Given the description of an element on the screen output the (x, y) to click on. 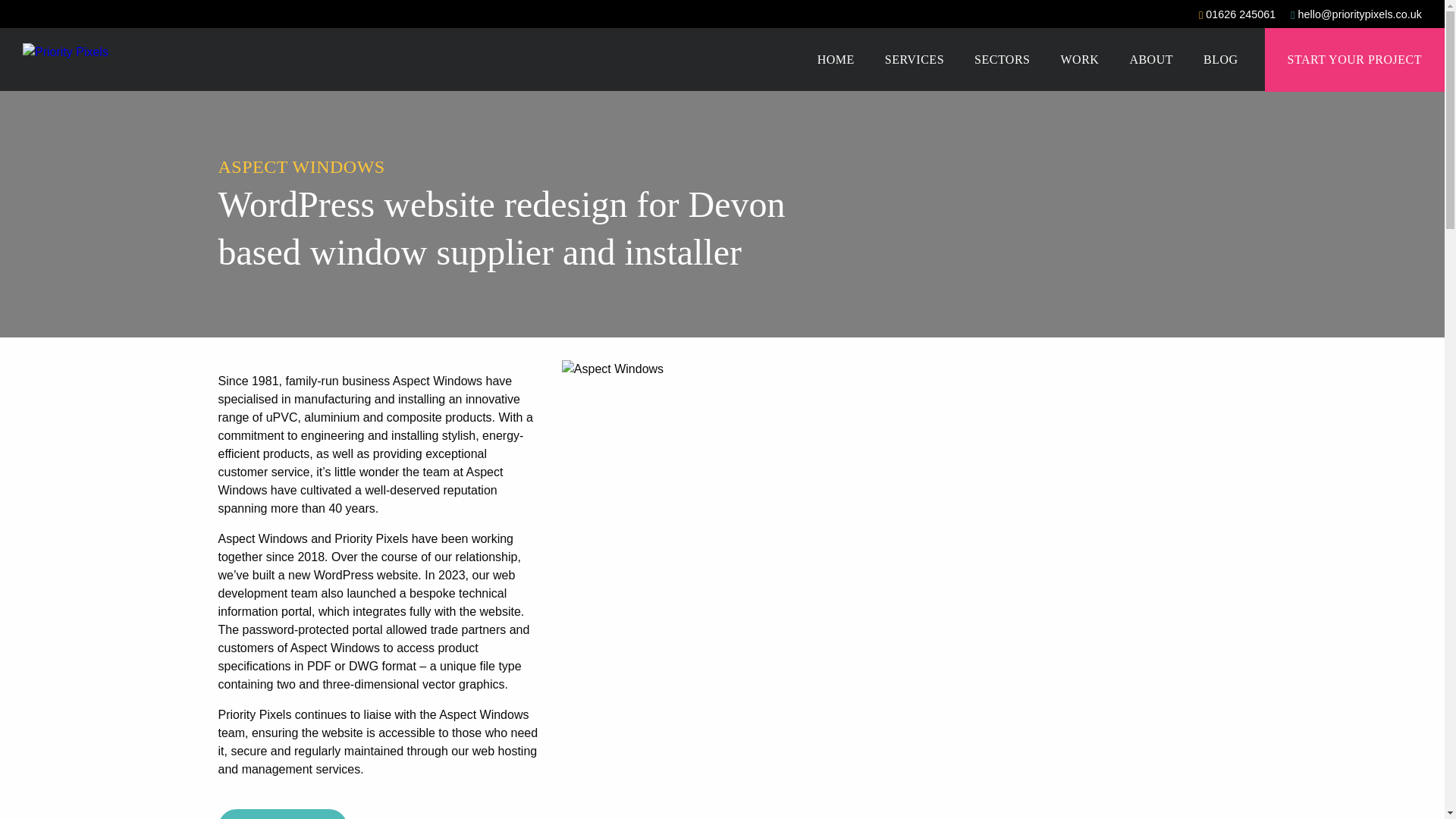
01626 245061 (1236, 14)
